Given the description of an element on the screen output the (x, y) to click on. 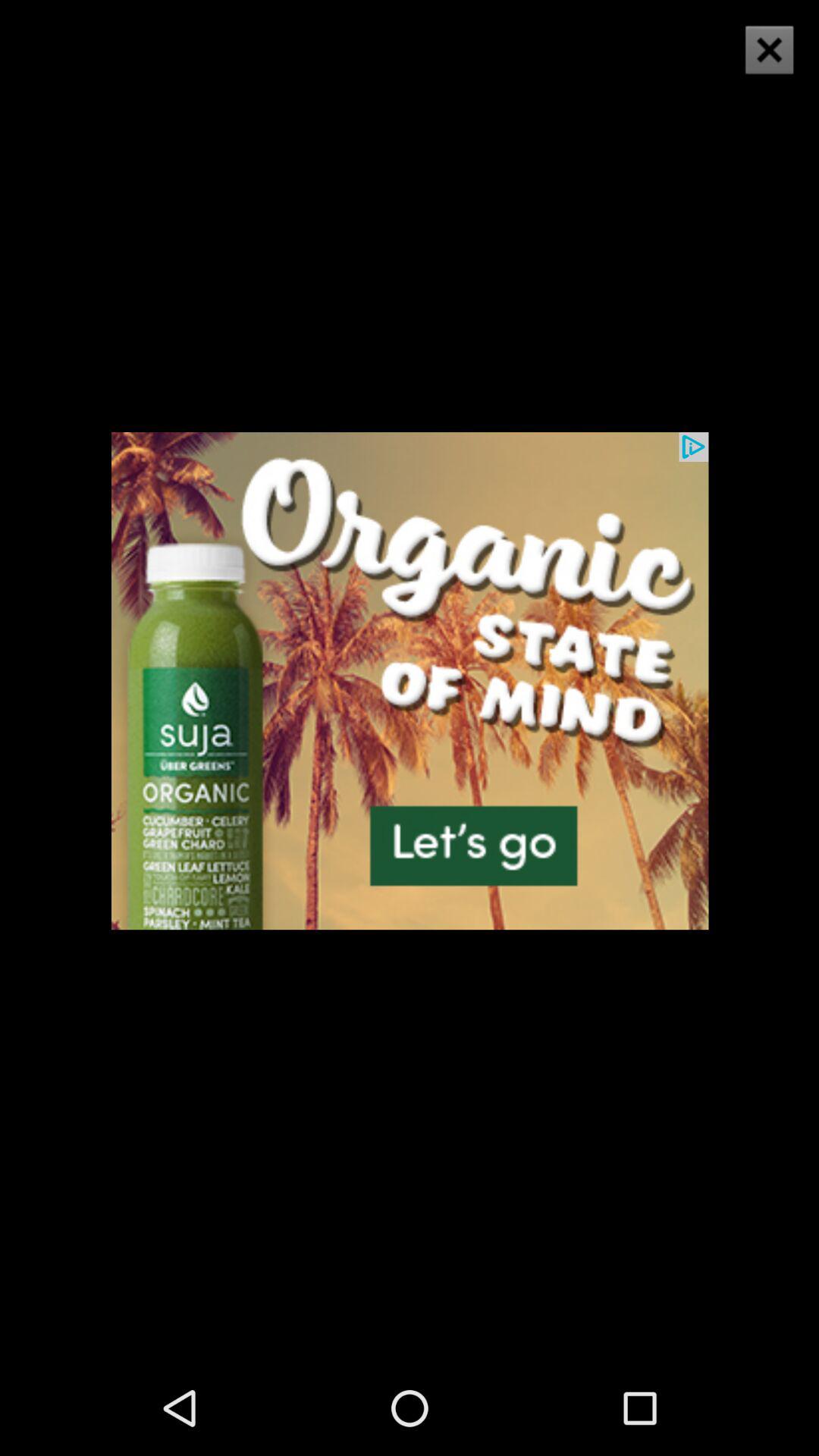
launch icon at the top right corner (769, 49)
